Given the description of an element on the screen output the (x, y) to click on. 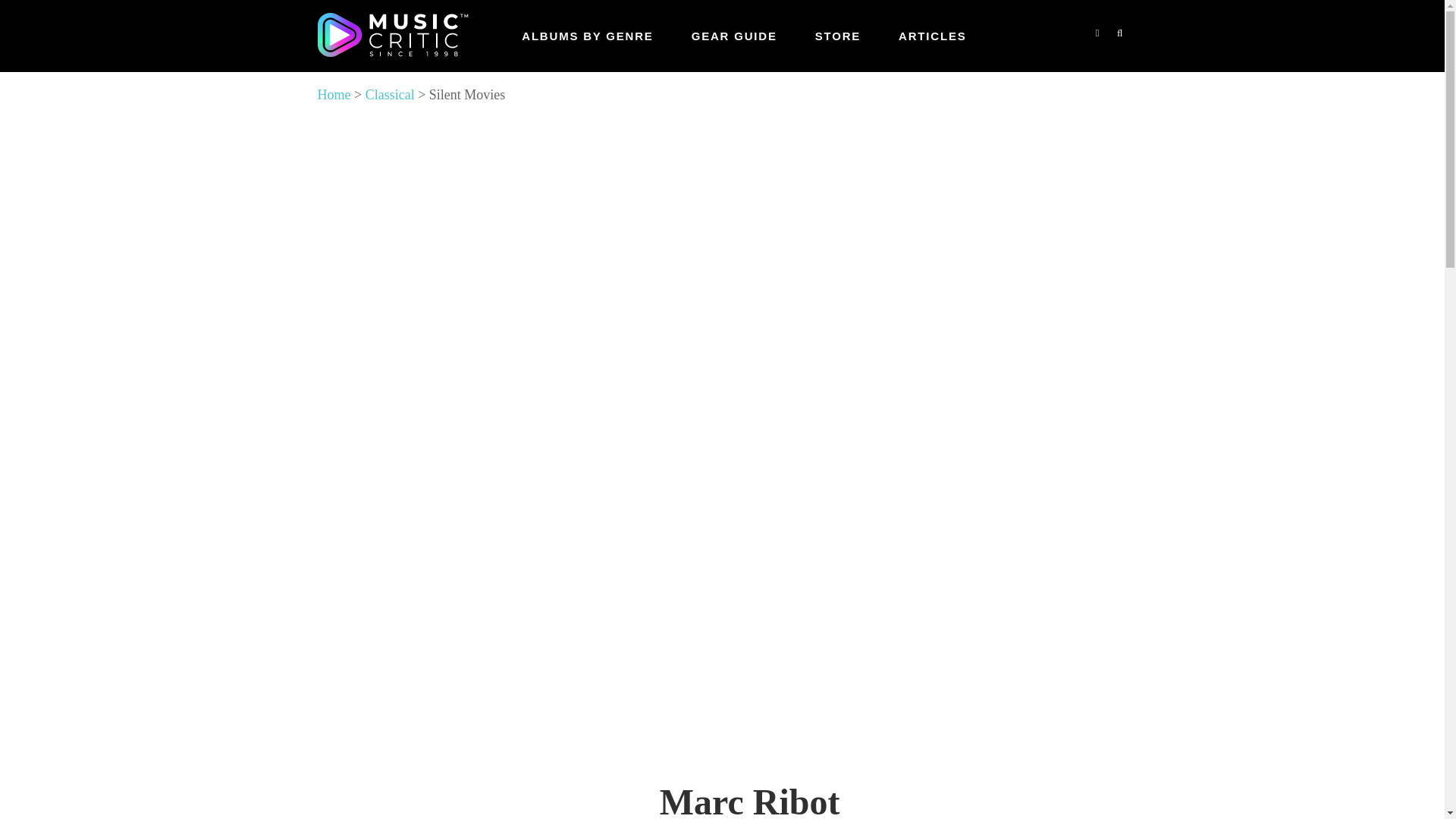
ALBUMS BY GENRE (586, 35)
Home (333, 94)
GEAR GUIDE (734, 35)
ARTICLES (932, 35)
STORE (837, 35)
